Given the description of an element on the screen output the (x, y) to click on. 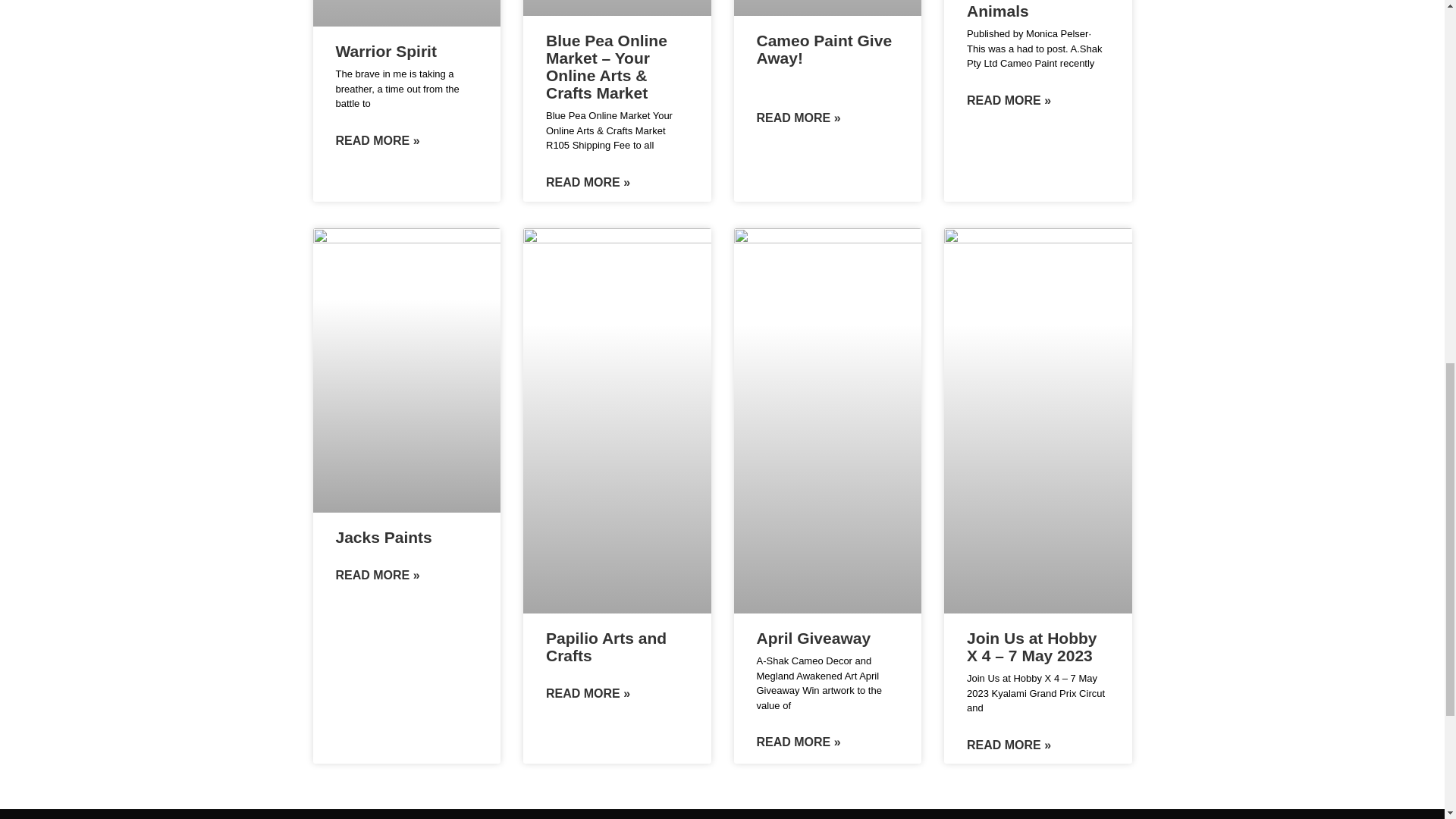
Rainbow Nation Animals (1026, 9)
Warrior Spirit (384, 50)
Papilio Arts and Crafts (606, 646)
Jacks Paints (382, 537)
Cameo Paint Give Away! (824, 48)
April Giveaway (813, 638)
